Given the description of an element on the screen output the (x, y) to click on. 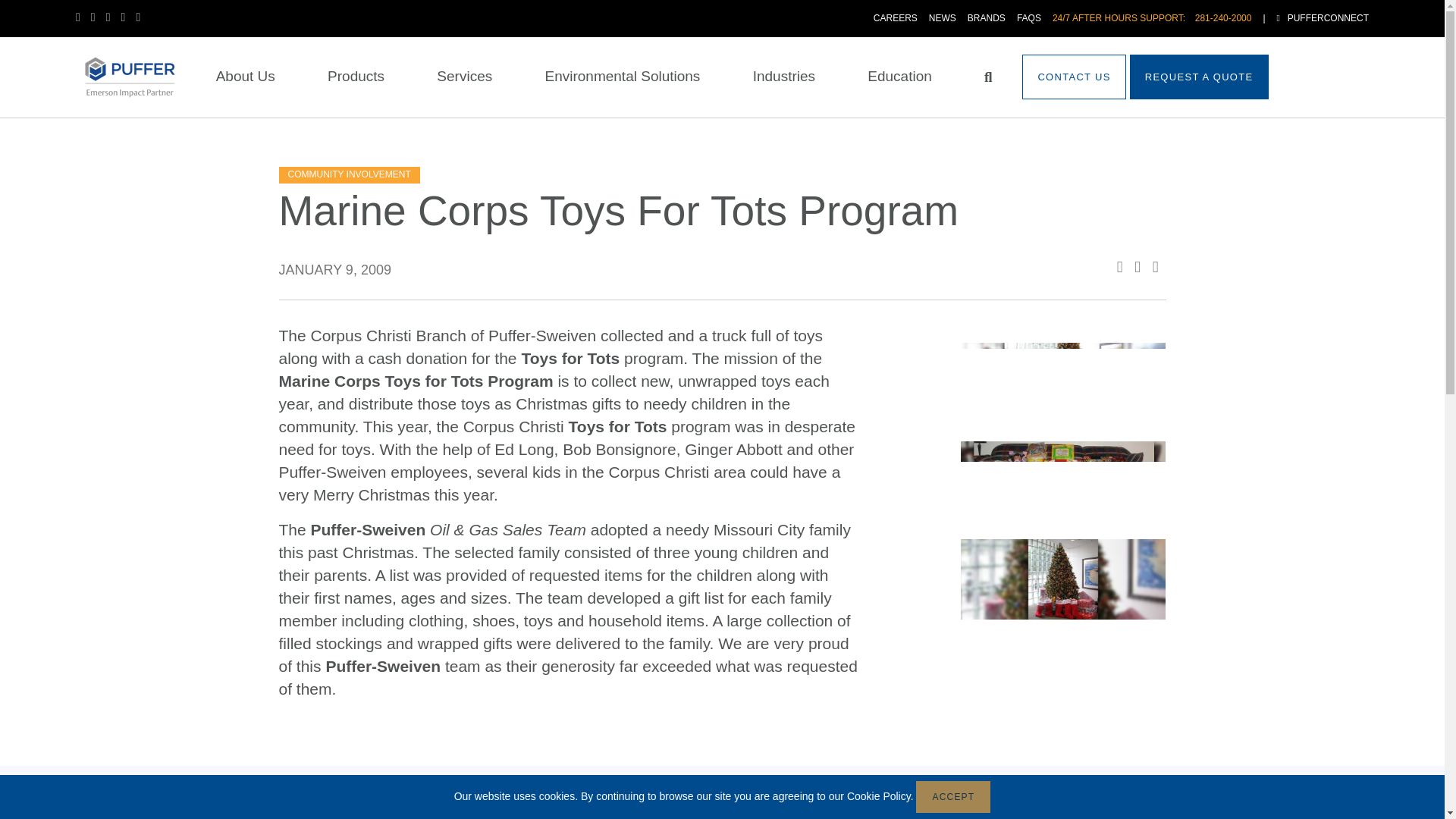
Industries (783, 76)
Facebook (82, 16)
Environmental Solutions (622, 76)
Youtube (128, 16)
About Us (245, 76)
BRANDS (987, 18)
FAQs (1028, 18)
PufferConnect (1322, 18)
Linked in (98, 16)
Services (464, 76)
